Given the description of an element on the screen output the (x, y) to click on. 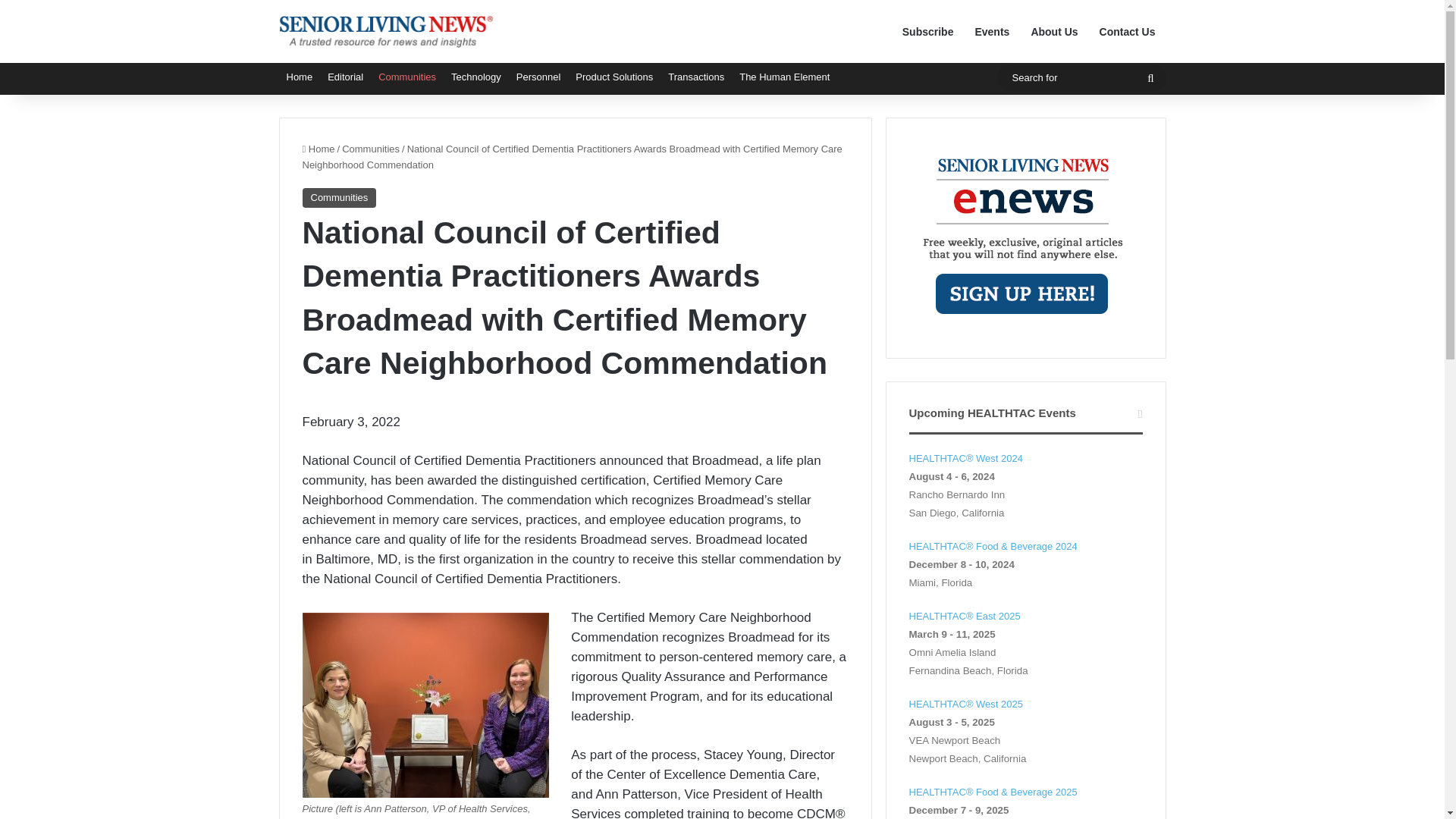
Technology (476, 77)
Communities (338, 198)
Home (317, 148)
Editorial (345, 77)
Subscribe (927, 31)
Home (299, 77)
Search for (1150, 77)
Product Solutions (614, 77)
Transactions (696, 77)
Events (991, 31)
Personnel (538, 77)
The Human Element (784, 77)
Communities (407, 77)
About Us (1053, 31)
Search for (1081, 77)
